Given the description of an element on the screen output the (x, y) to click on. 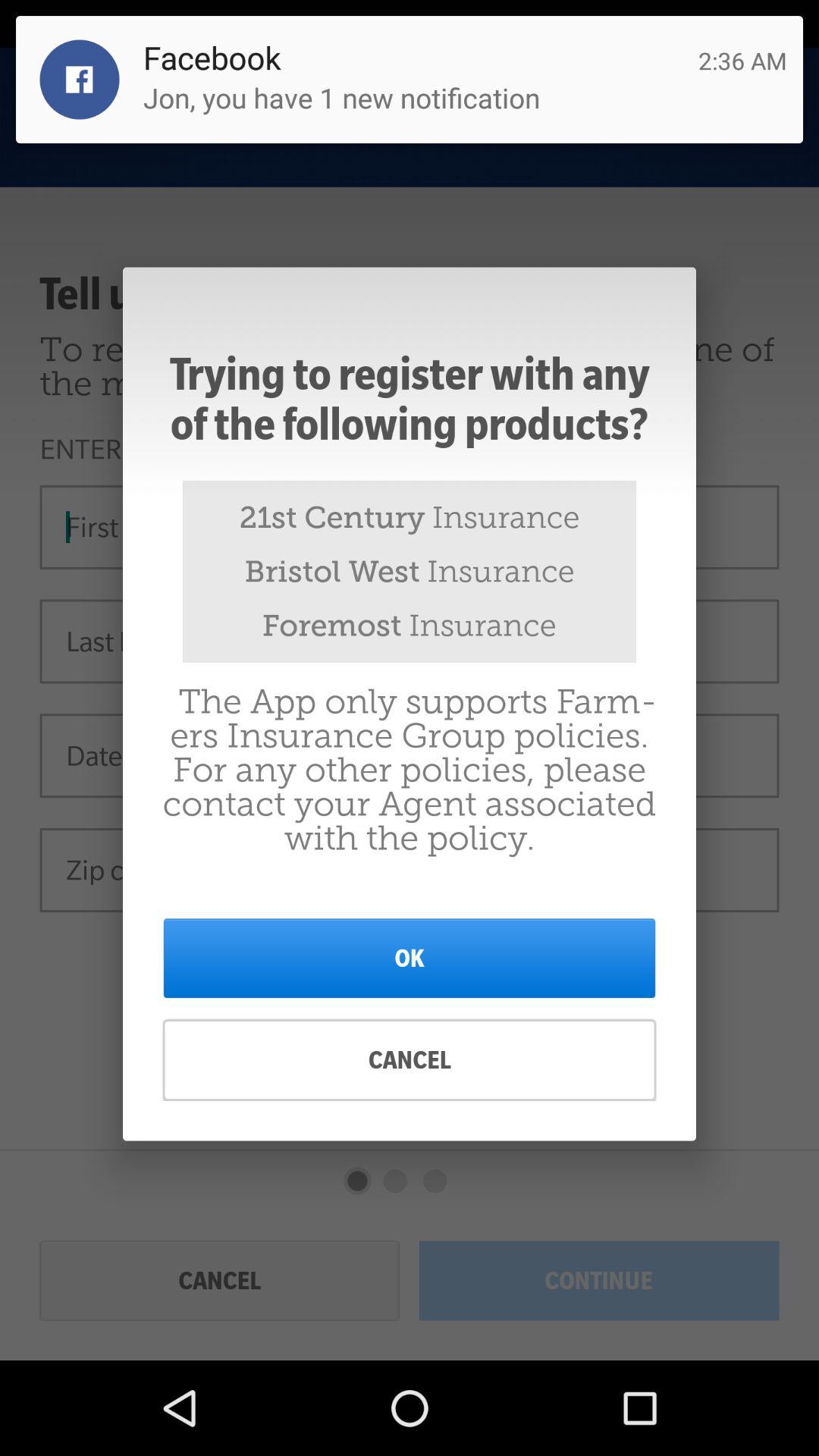
click item below the ok item (409, 1060)
